Given the description of an element on the screen output the (x, y) to click on. 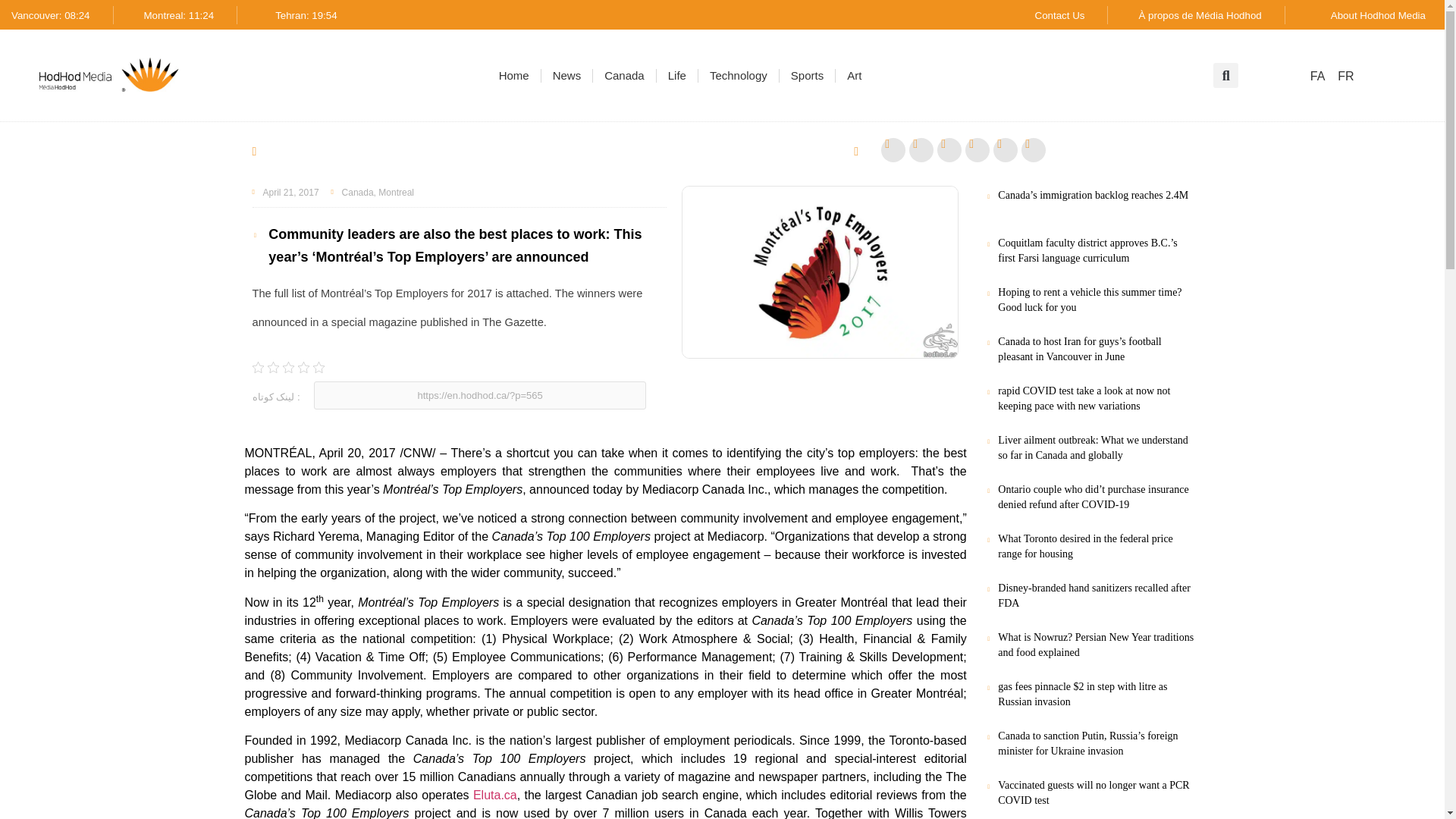
Life (676, 75)
News (566, 75)
Art (853, 75)
Technology (738, 75)
Sports (806, 75)
Contact Us (1059, 15)
Home (513, 75)
Canada (624, 75)
About Hodhod Media (1377, 15)
